Given the description of an element on the screen output the (x, y) to click on. 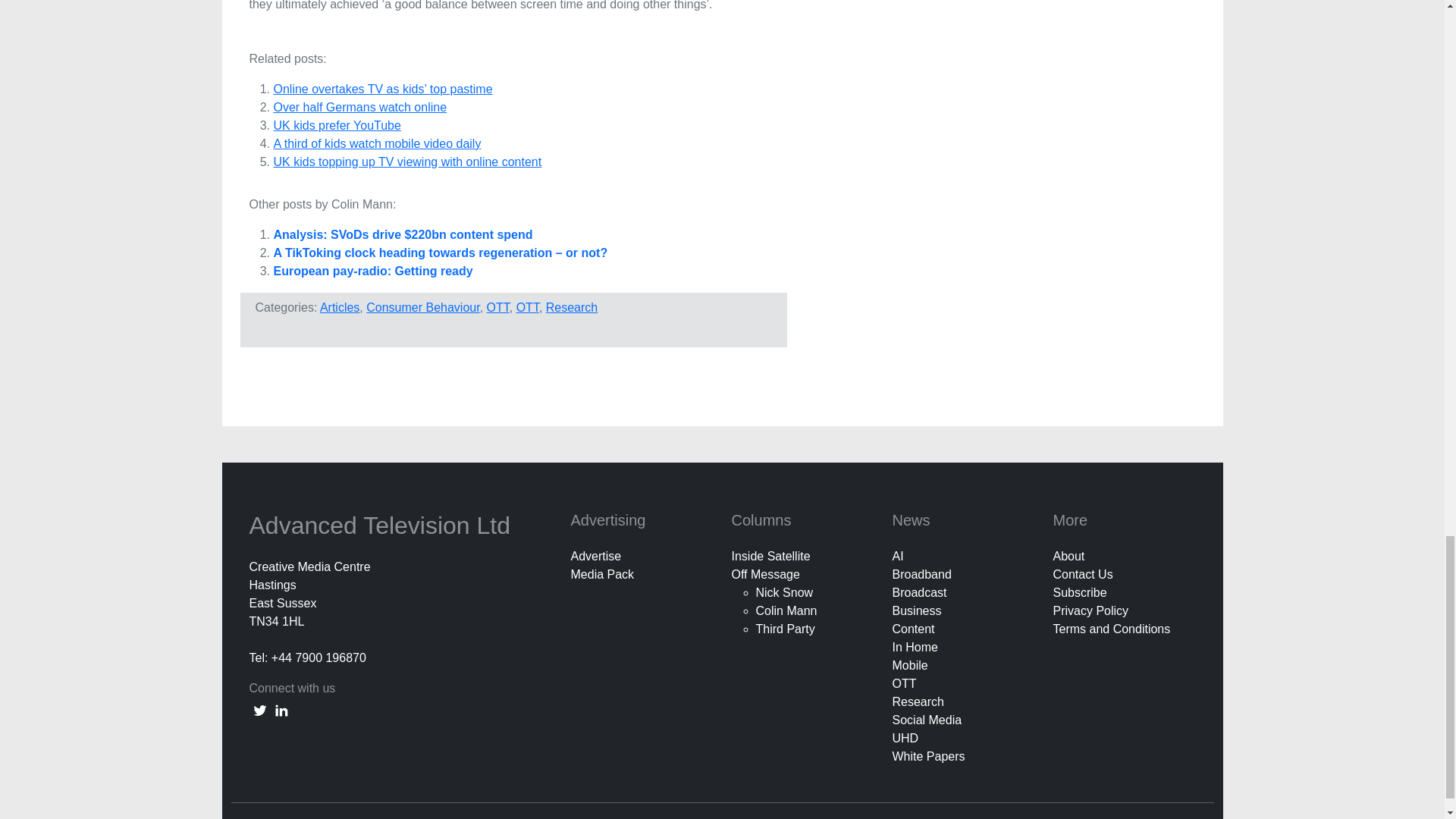
A third of kids watch mobile video daily (376, 143)
OTT (497, 307)
OTT (527, 307)
Advanced Television Ltd  (382, 525)
A third of kids watch mobile video daily (376, 143)
UK kids topping up TV viewing with online content (407, 161)
UK kids prefer YouTube (336, 124)
Research (571, 307)
Over half Germans watch online (359, 106)
Consumer Behaviour (422, 307)
